Given the description of an element on the screen output the (x, y) to click on. 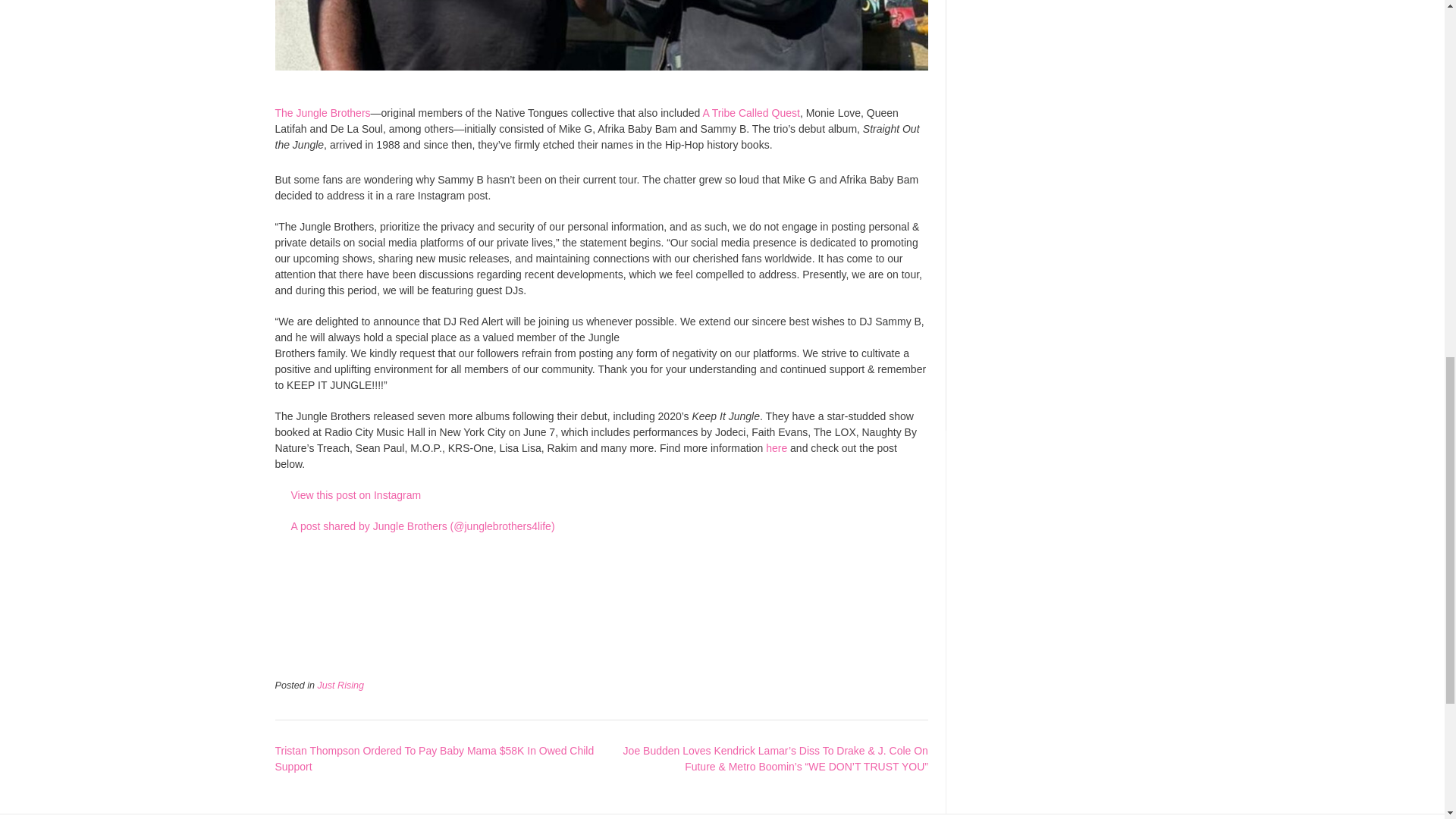
The Jungle Brothers (322, 112)
View this post on Instagram (601, 495)
Just Rising (341, 685)
A Tribe Called Quest (749, 112)
here (776, 448)
